Given the description of an element on the screen output the (x, y) to click on. 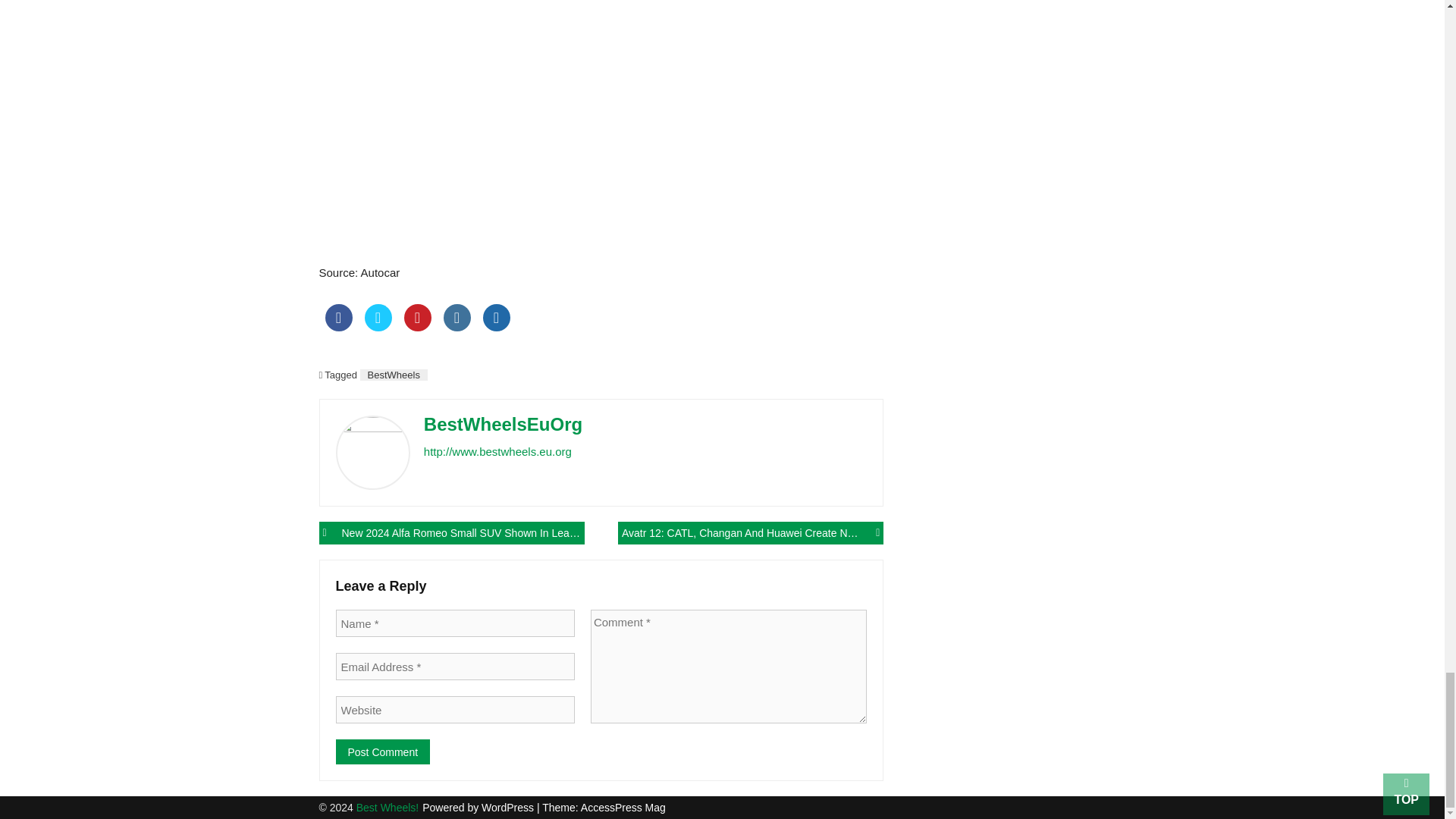
BestWheelsEuOrg (502, 424)
BestWheels (393, 374)
New 2024 Alfa Romeo Small SUV Shown In Leaked Images (450, 532)
Post Comment (381, 751)
Post Comment (381, 751)
AccessPress Themes (622, 807)
